Given the description of an element on the screen output the (x, y) to click on. 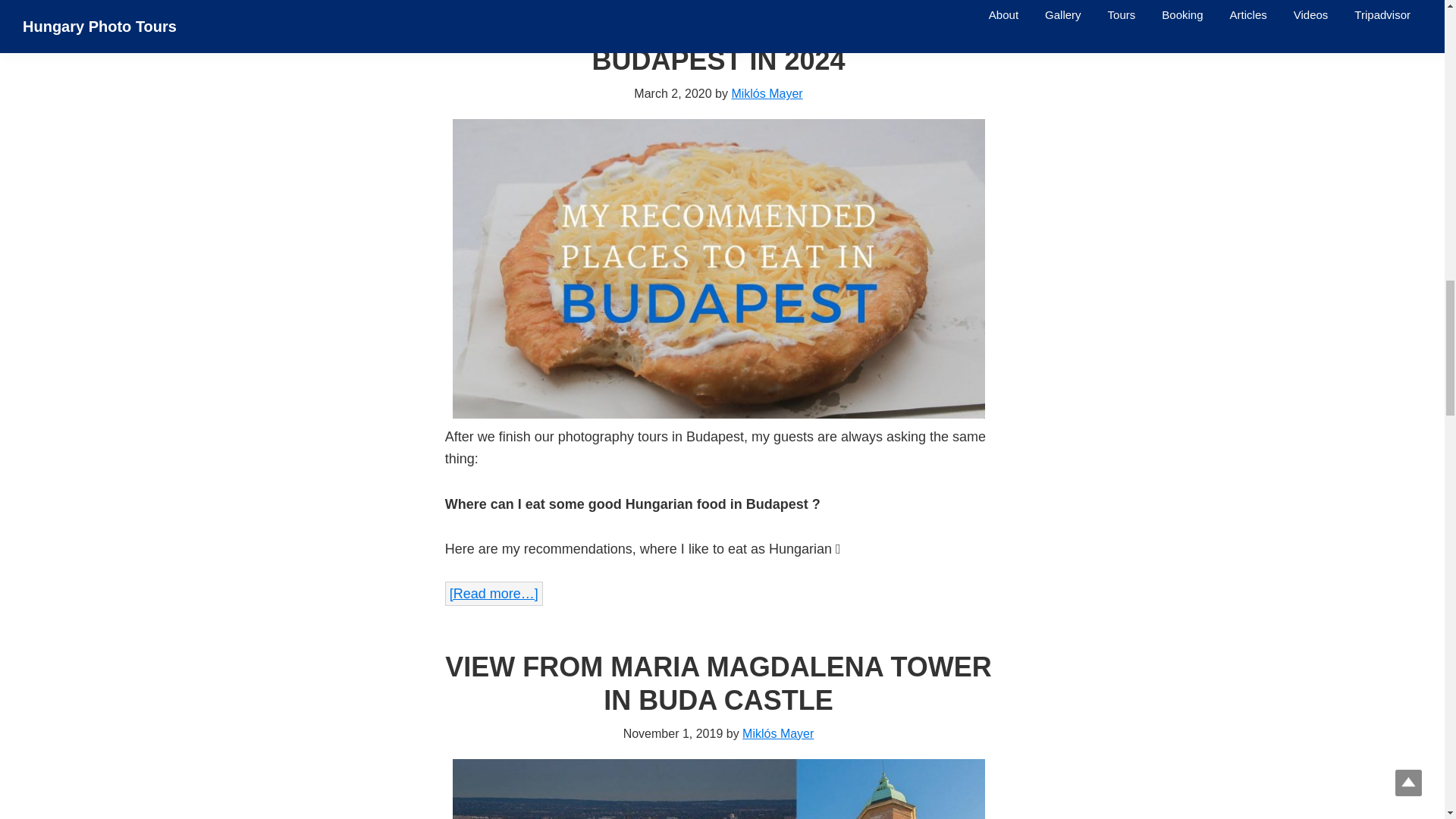
MY RECOMMENDED PLACES TO EAT IN BUDAPEST IN 2024 (717, 44)
VIEW FROM MARIA MAGDALENA TOWER IN BUDA CASTLE (718, 682)
